Given the description of an element on the screen output the (x, y) to click on. 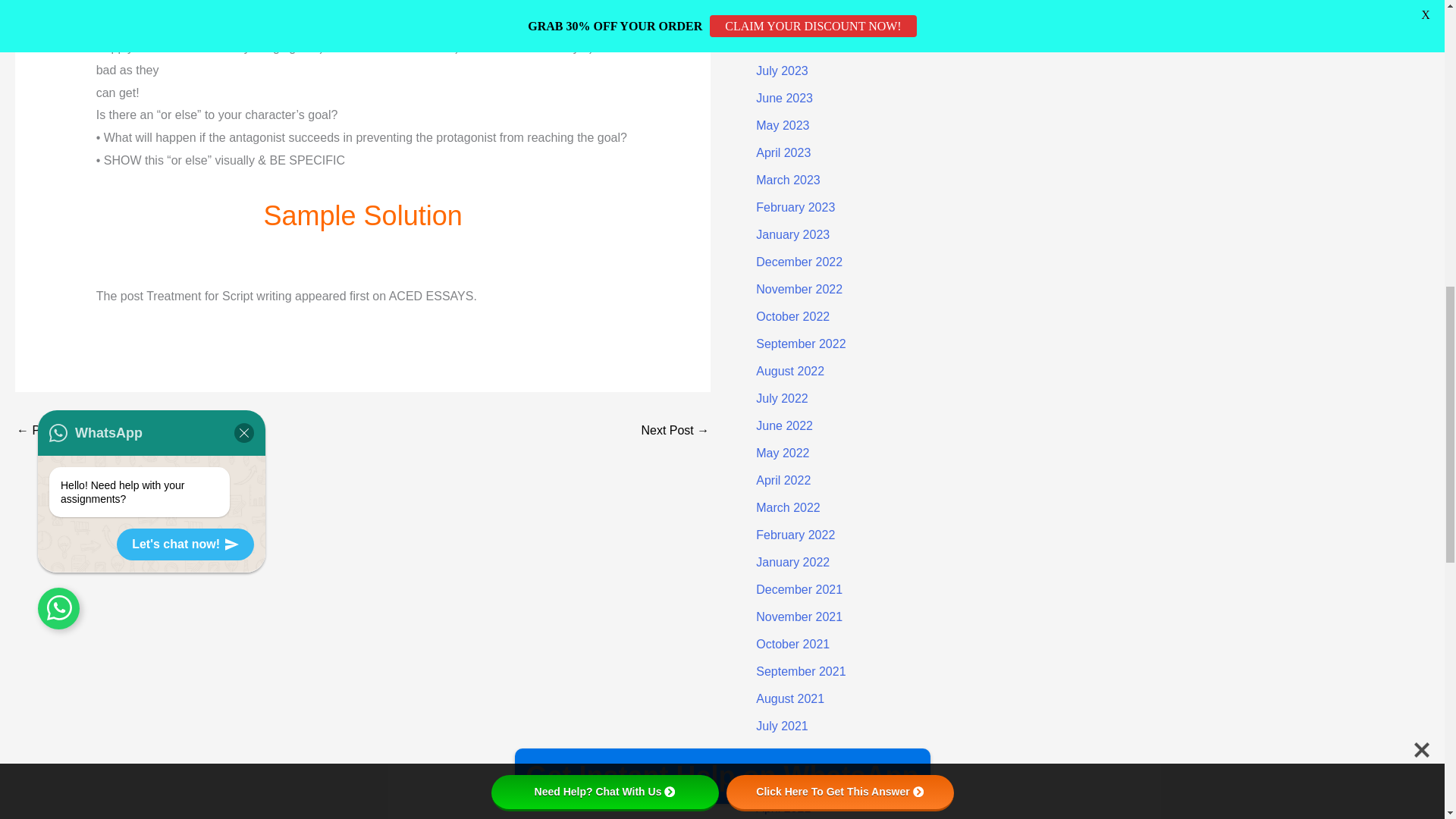
December 2022 (799, 261)
March 2023 (788, 179)
November 2022 (799, 288)
April 2023 (782, 152)
June 2023 (783, 97)
September 2023 (800, 15)
August 2023 (789, 42)
January 2023 (792, 234)
May 2023 (782, 124)
February 2023 (794, 206)
